Given the description of an element on the screen output the (x, y) to click on. 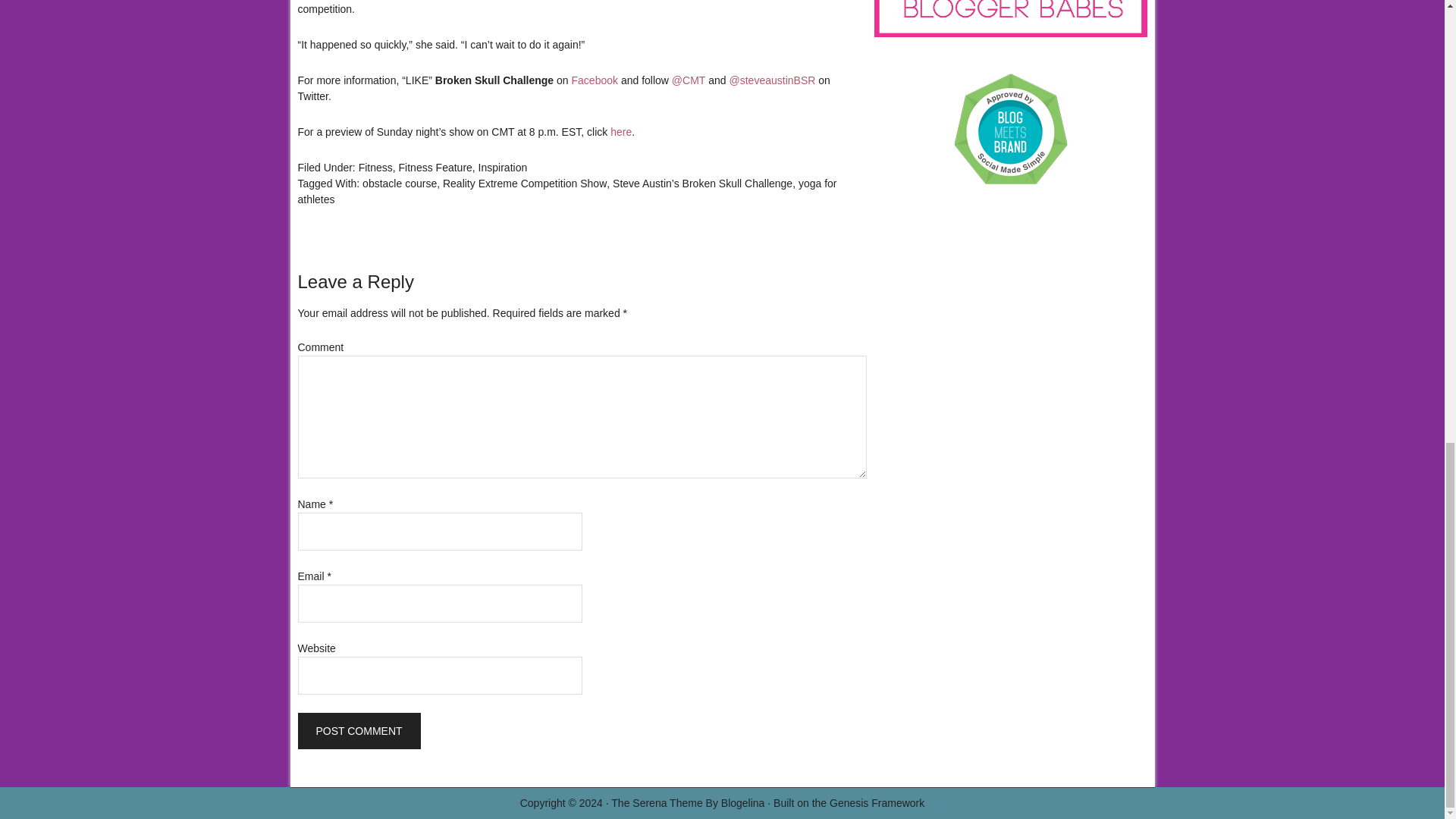
Post Comment (358, 730)
Genesis Framework (876, 802)
Facebook (594, 80)
This external link will open in a new window (688, 80)
Reality Extreme Competition Show (524, 183)
yoga for athletes (566, 191)
This external link will open in a new window (772, 80)
Post Comment (358, 730)
Fitness Feature (434, 167)
obstacle course (399, 183)
